Given the description of an element on the screen output the (x, y) to click on. 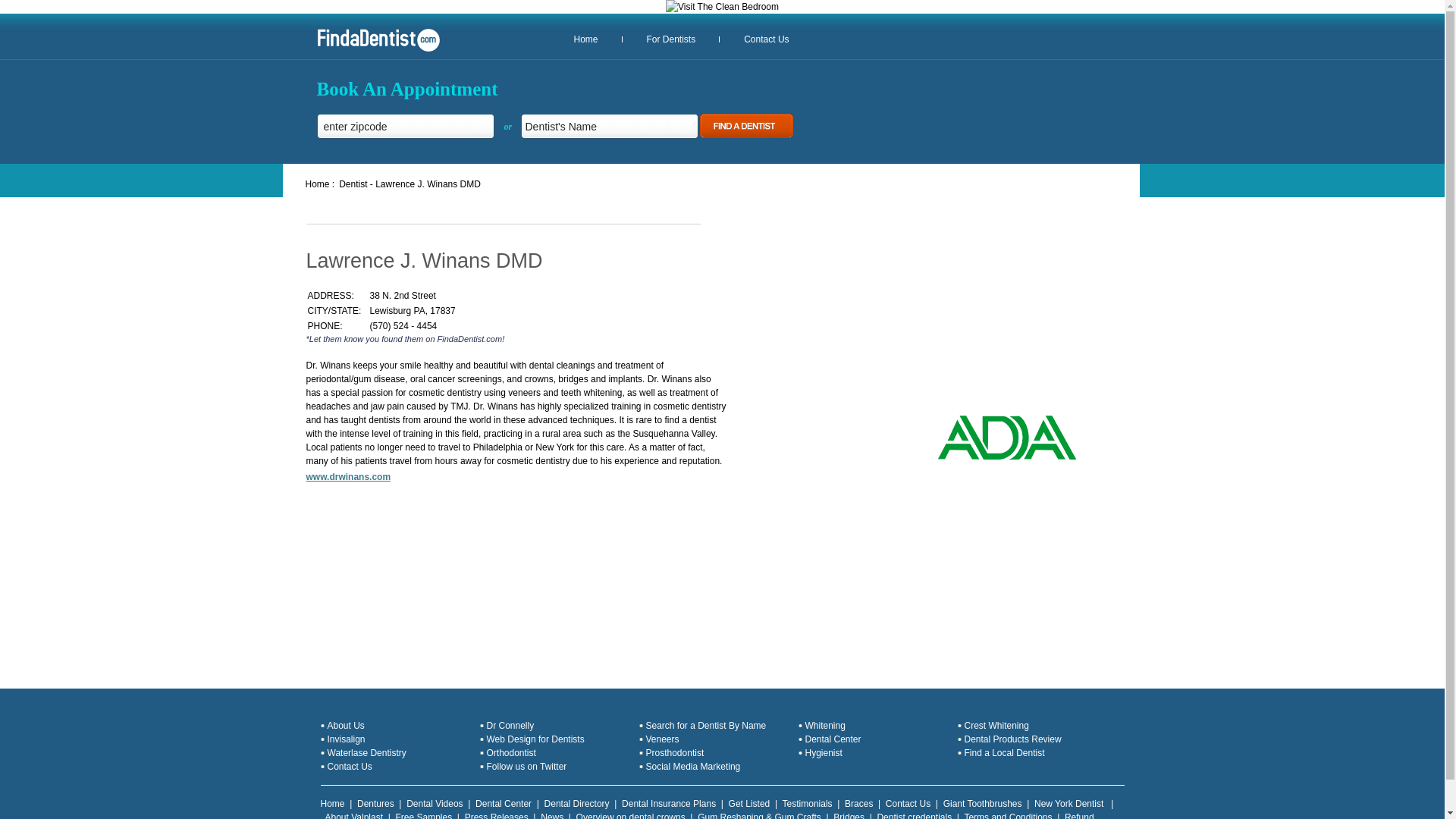
Contact Us (907, 803)
Whitening (825, 725)
Giant Toothbrushes (982, 803)
Invisalign (346, 738)
Follow us on Twitter (526, 766)
Dental Products Review (1012, 738)
Hygienist (824, 752)
Braces (858, 803)
Home (331, 803)
Search for a Dentist By Name (706, 725)
For Dentists (670, 39)
New York Dentist (1069, 803)
Waterlase Dentistry (366, 752)
find a dentist (319, 184)
Veneers (662, 738)
